Given the description of an element on the screen output the (x, y) to click on. 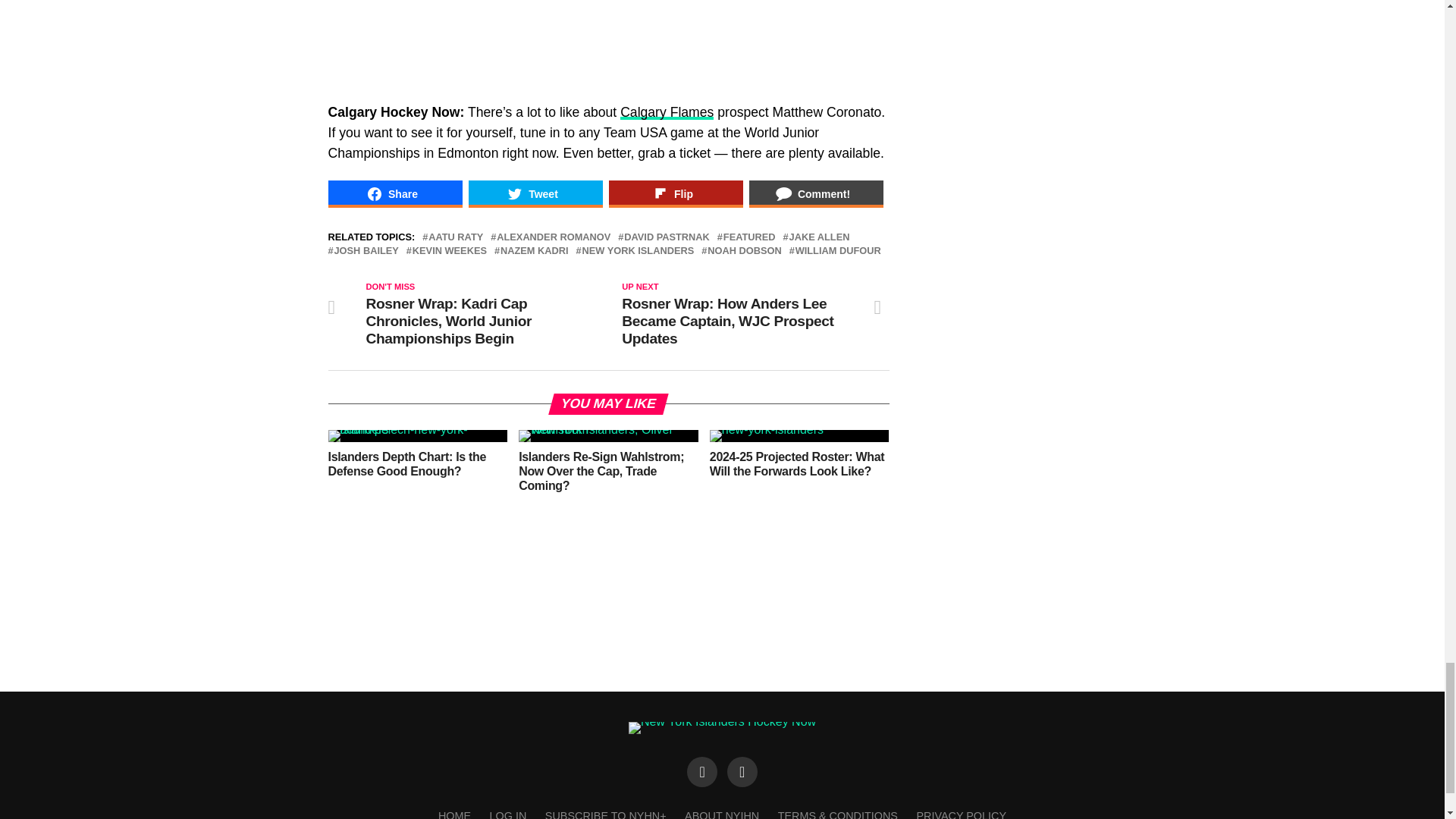
Share on Tweet (535, 194)
Share on Comment! (816, 194)
Share on Flip (675, 194)
Share on Share (394, 194)
